Given the description of an element on the screen output the (x, y) to click on. 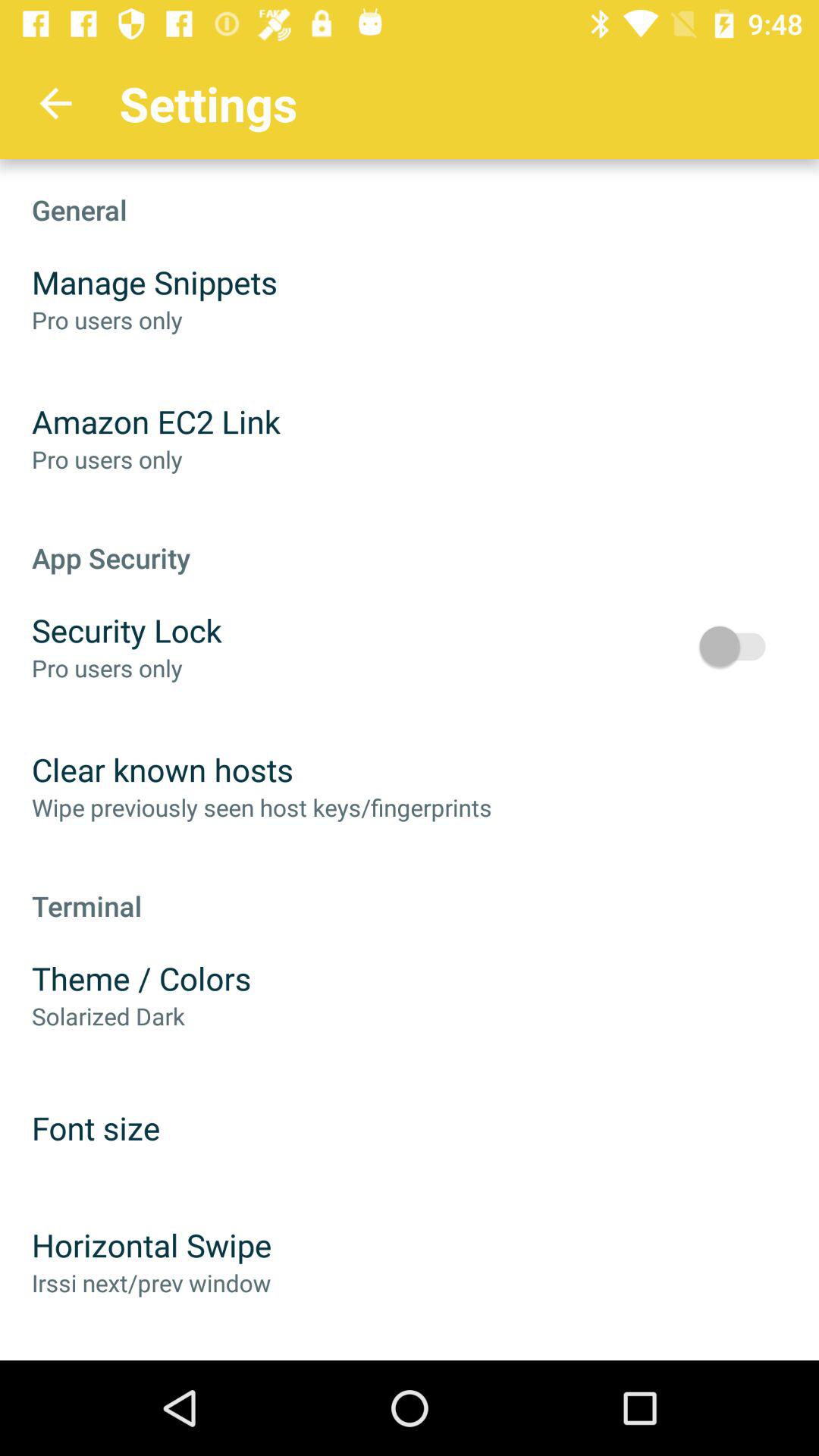
launch manage snippets (154, 281)
